Given the description of an element on the screen output the (x, y) to click on. 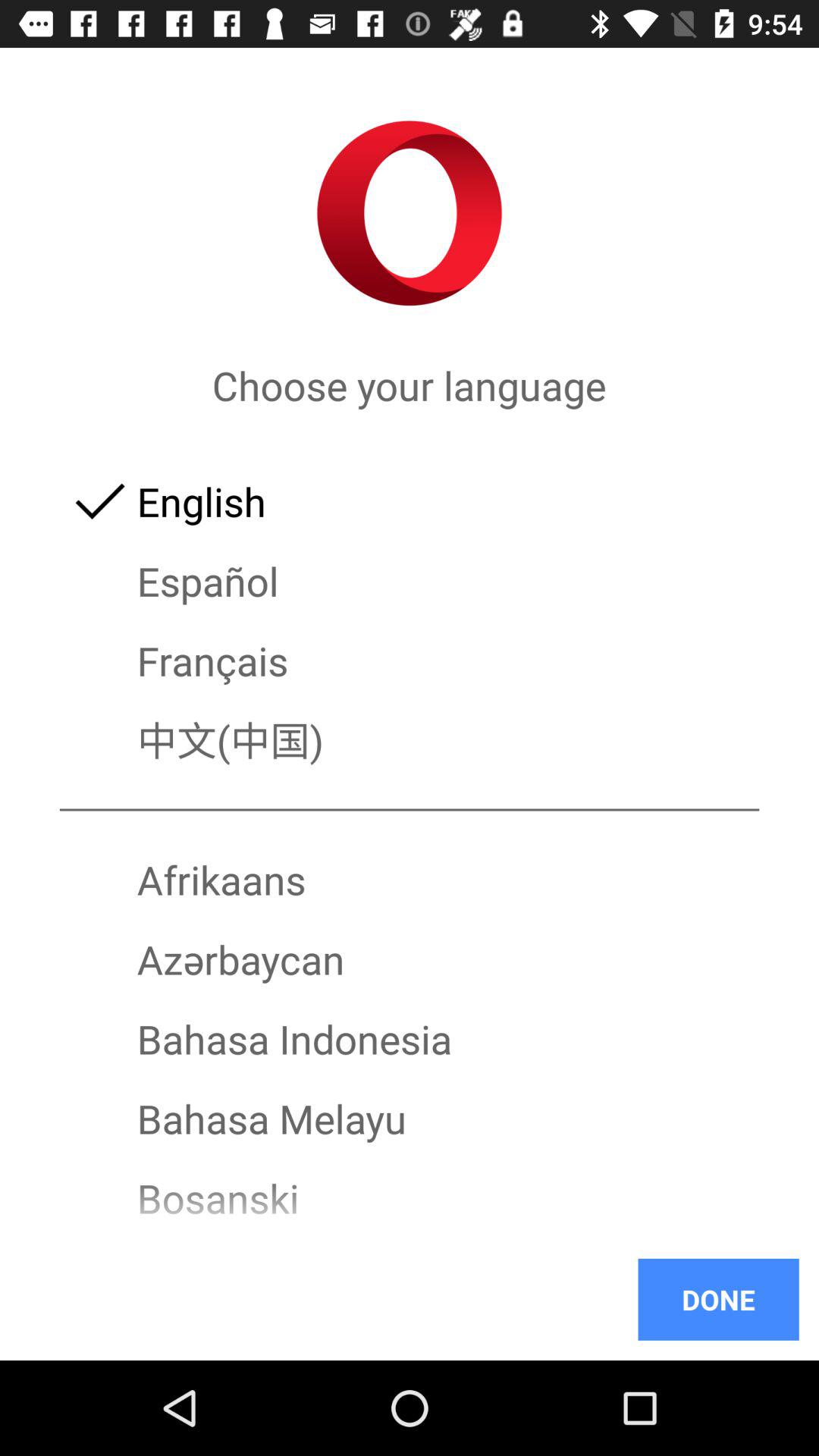
tap the item below choose your language item (409, 501)
